Given the description of an element on the screen output the (x, y) to click on. 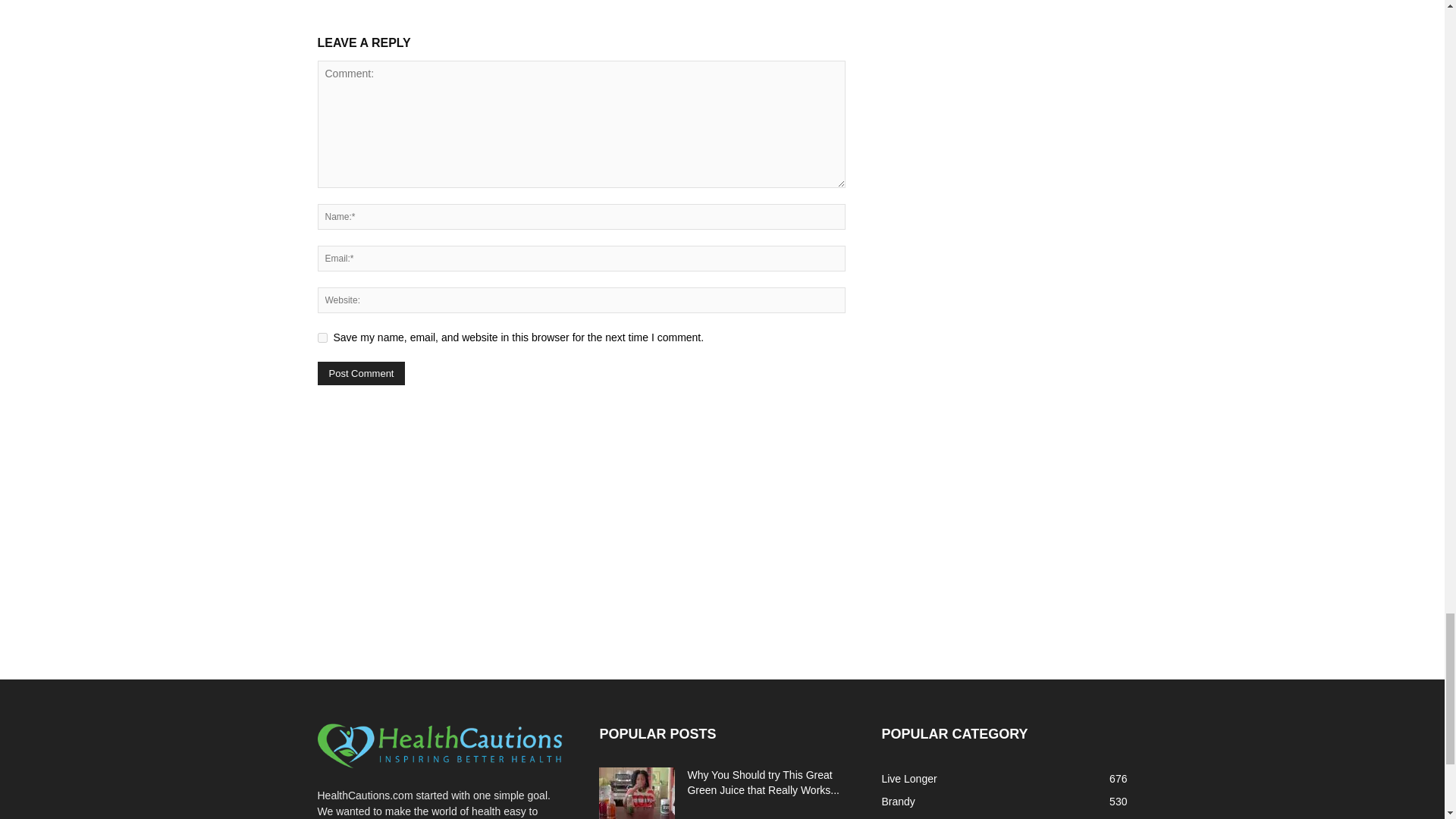
Post Comment (360, 372)
yes (321, 337)
